Given the description of an element on the screen output the (x, y) to click on. 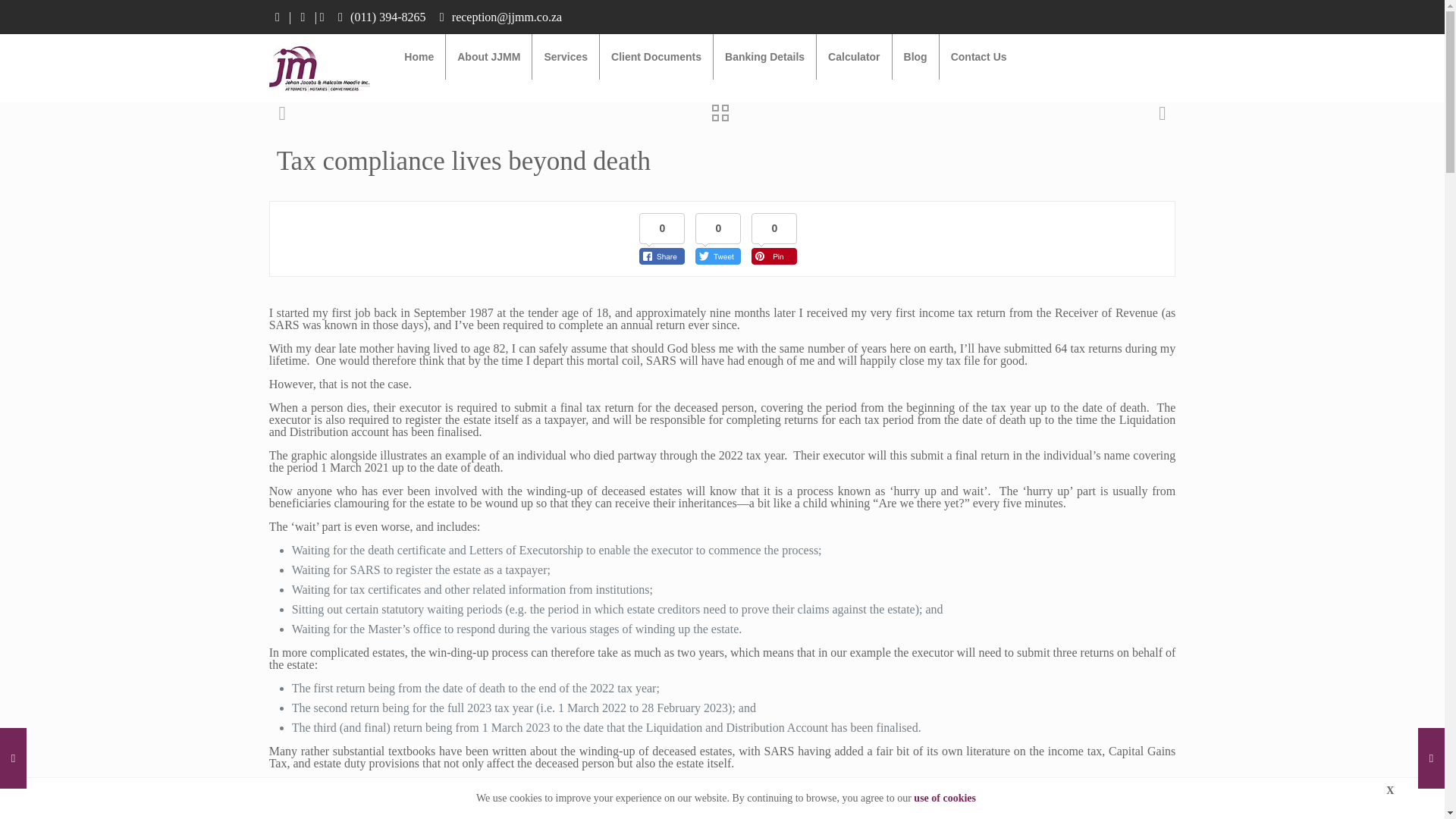
About JJMM (488, 56)
JJMM (320, 68)
Banking Details (764, 56)
Contact Us (978, 56)
Home (419, 56)
Calculator (853, 56)
Client Documents (656, 56)
Services (565, 56)
Blog (915, 56)
